Given the description of an element on the screen output the (x, y) to click on. 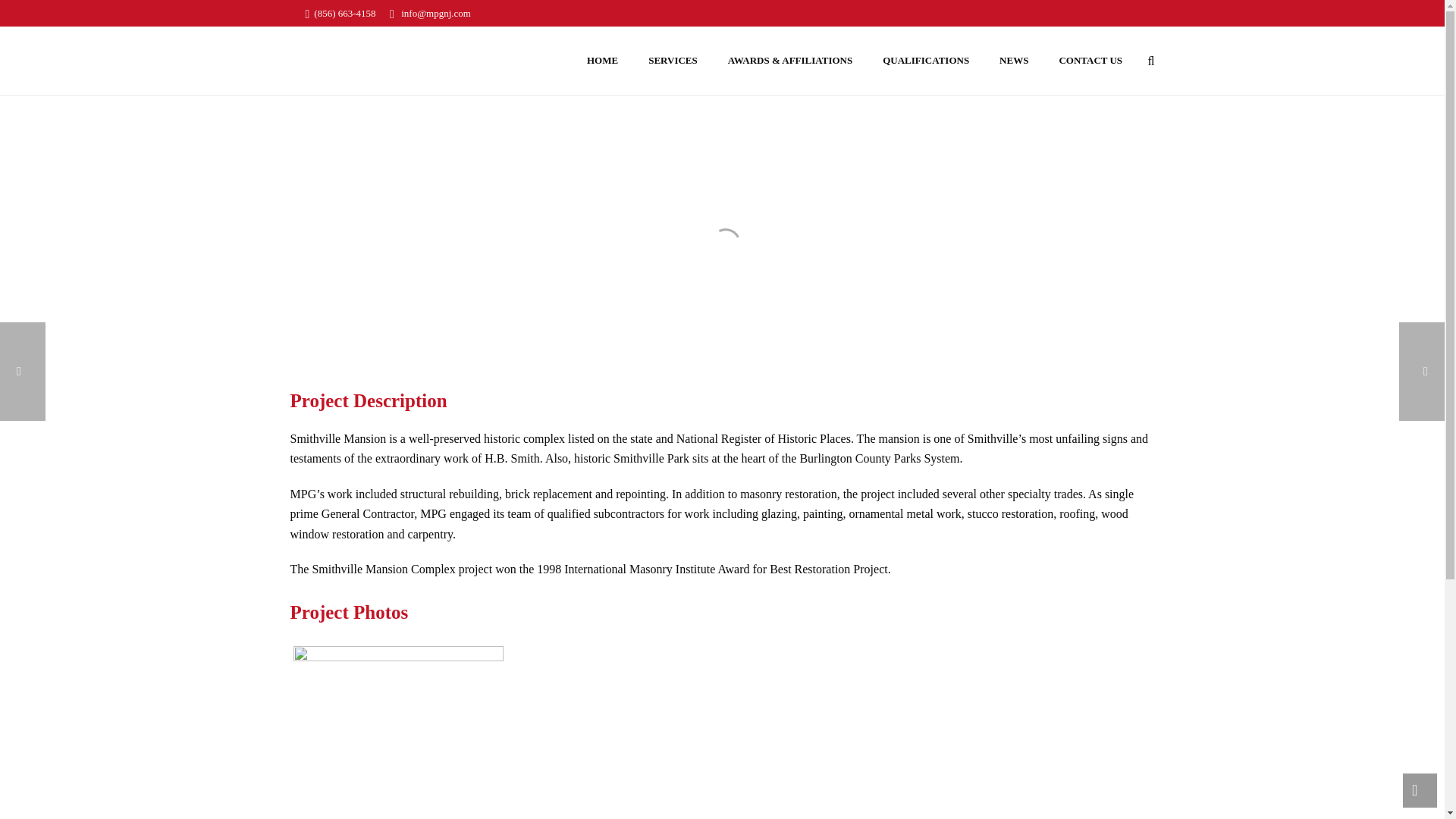
SERVICES (673, 61)
HOME (602, 61)
QUALIFICATIONS (925, 61)
NEWS (1013, 61)
NEWS (1013, 61)
QUALIFICATIONS (925, 61)
SERVICES (673, 61)
HOME (602, 61)
CONTACT US (1090, 61)
